Given the description of an element on the screen output the (x, y) to click on. 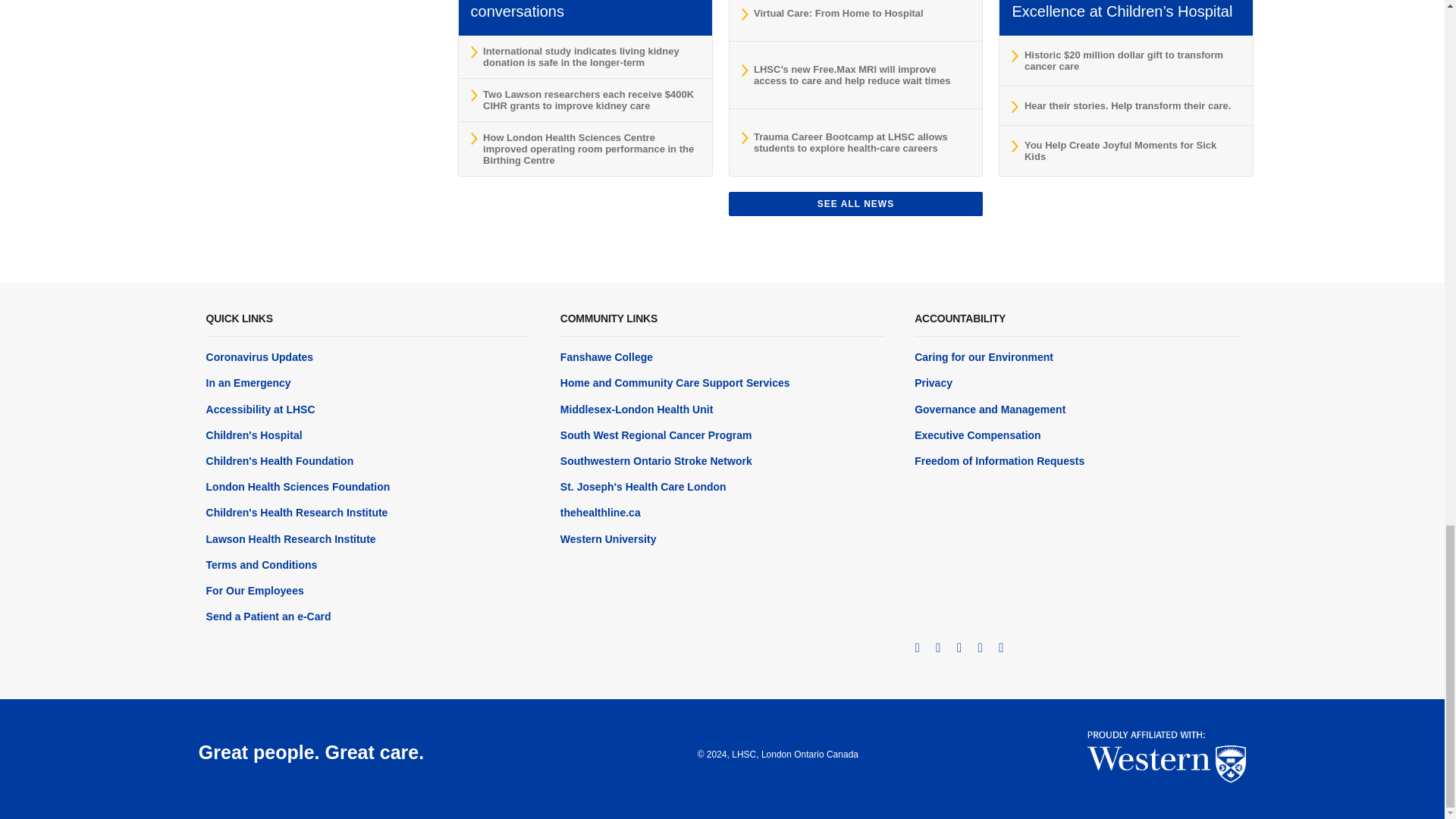
Hear their stories. Help transform their care. (1125, 105)
Virtual Care: From Home to Hospital (855, 14)
